Given the description of an element on the screen output the (x, y) to click on. 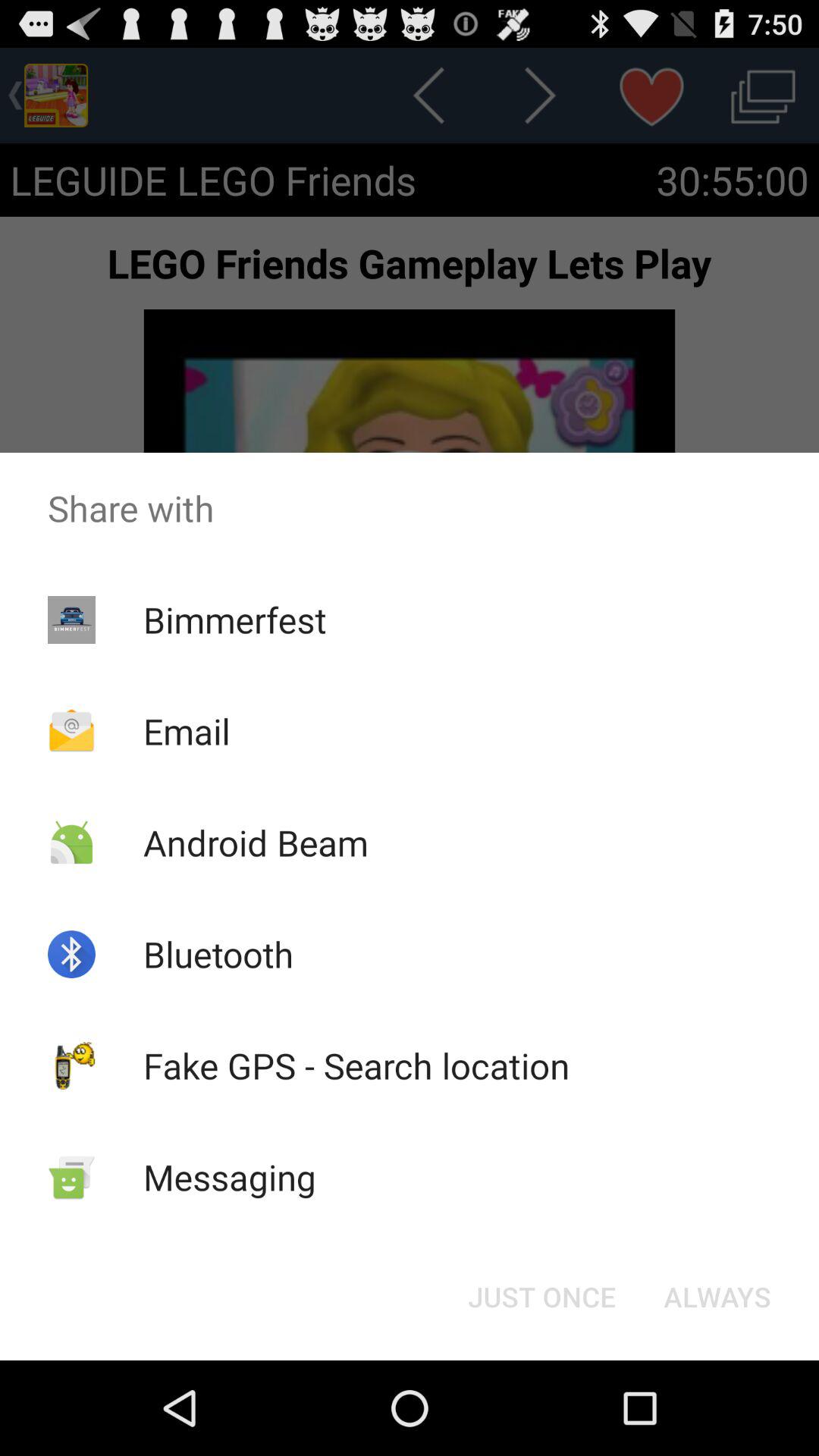
launch the app below the email (255, 842)
